Given the description of an element on the screen output the (x, y) to click on. 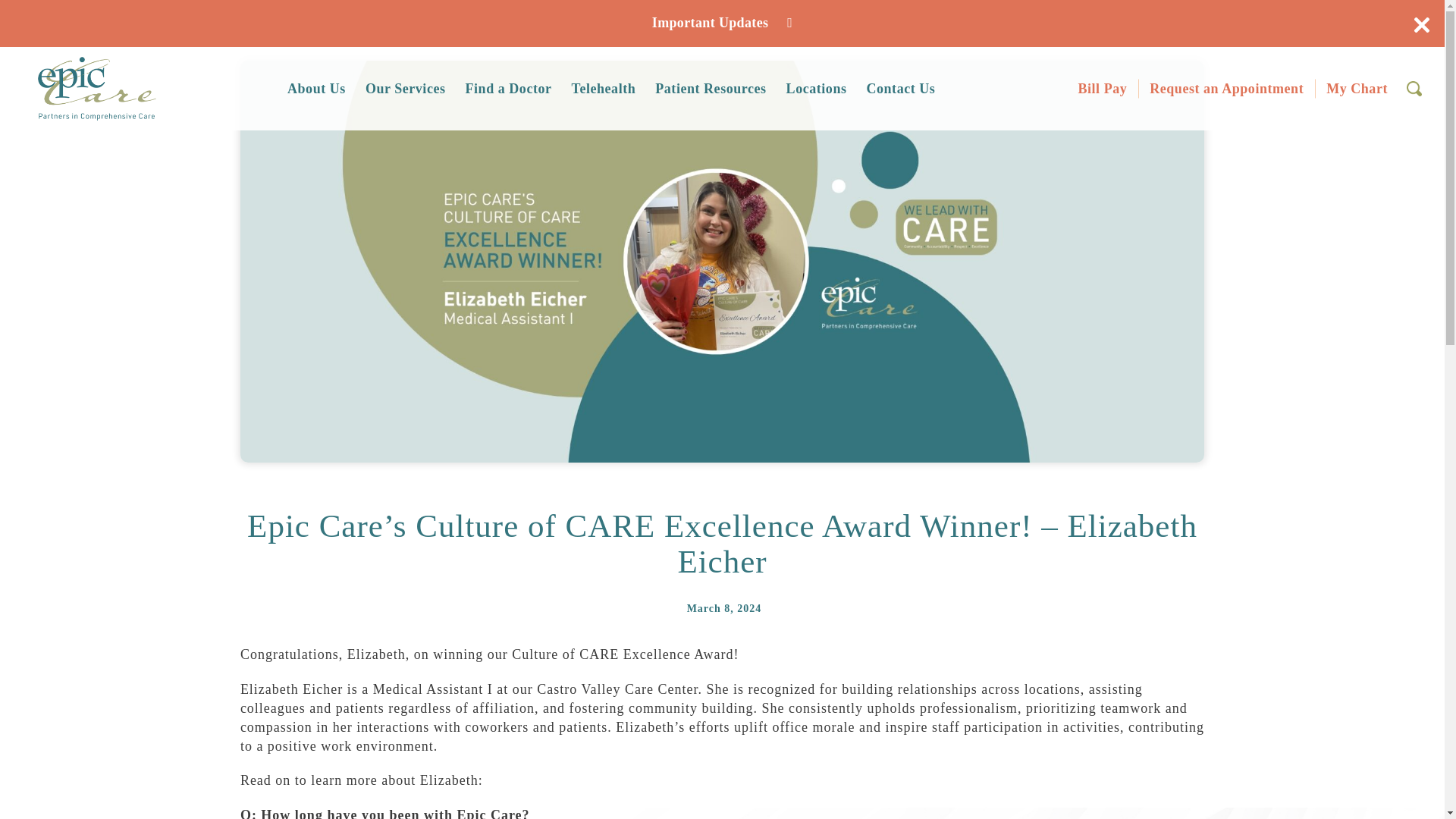
Telehealth (603, 88)
Our Services (405, 88)
Contact Us (900, 88)
Locations (816, 88)
Find a Doctor (508, 88)
Request an Appointment (1226, 88)
Important Updates (722, 22)
Patient Resources (710, 88)
